Given the description of an element on the screen output the (x, y) to click on. 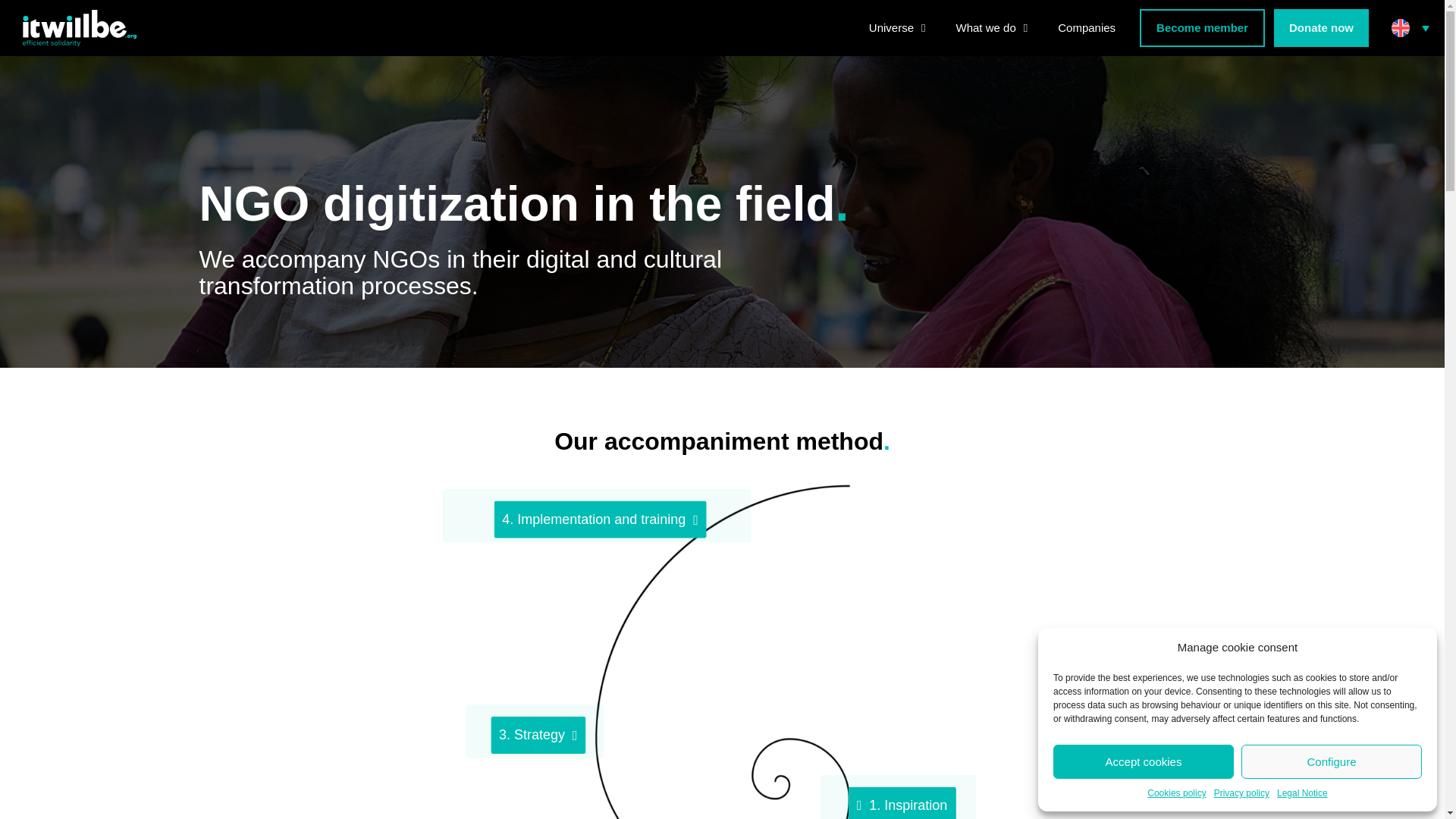
Become member (1202, 27)
What we do (991, 27)
Accept cookies (1142, 761)
Privacy policy (1241, 793)
Universe (896, 27)
Cookies policy (1176, 793)
Donate now (1321, 27)
Legal Notice (1301, 793)
Companies (1086, 27)
Configure (1331, 761)
